Given the description of an element on the screen output the (x, y) to click on. 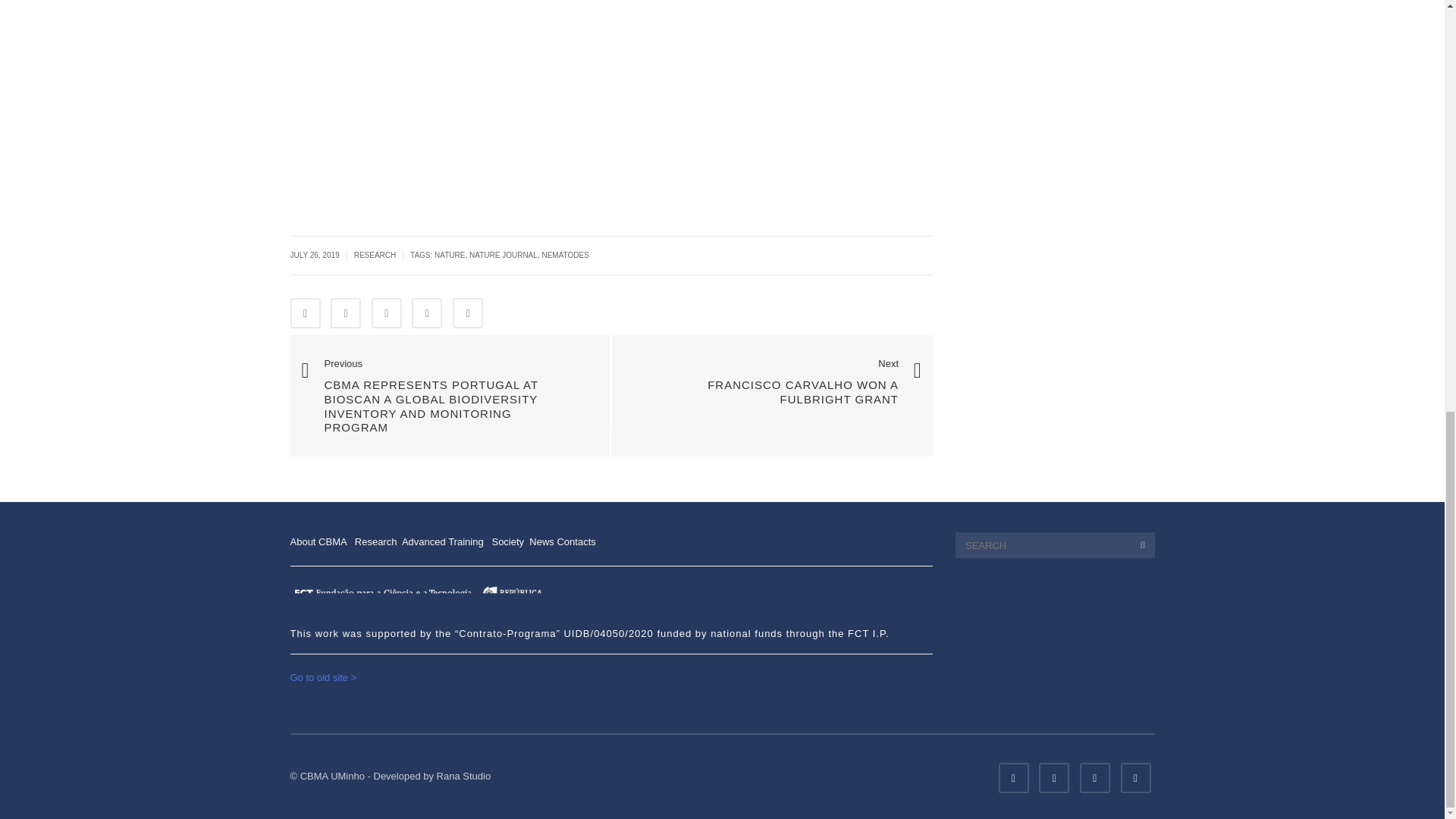
Share on LinkedIn (386, 313)
Share on Facebook (304, 313)
Pin this (427, 313)
Share on Twitter (345, 313)
Email this (467, 313)
Francisco Carvalho won a Fulbright grant (772, 383)
